Given the description of an element on the screen output the (x, y) to click on. 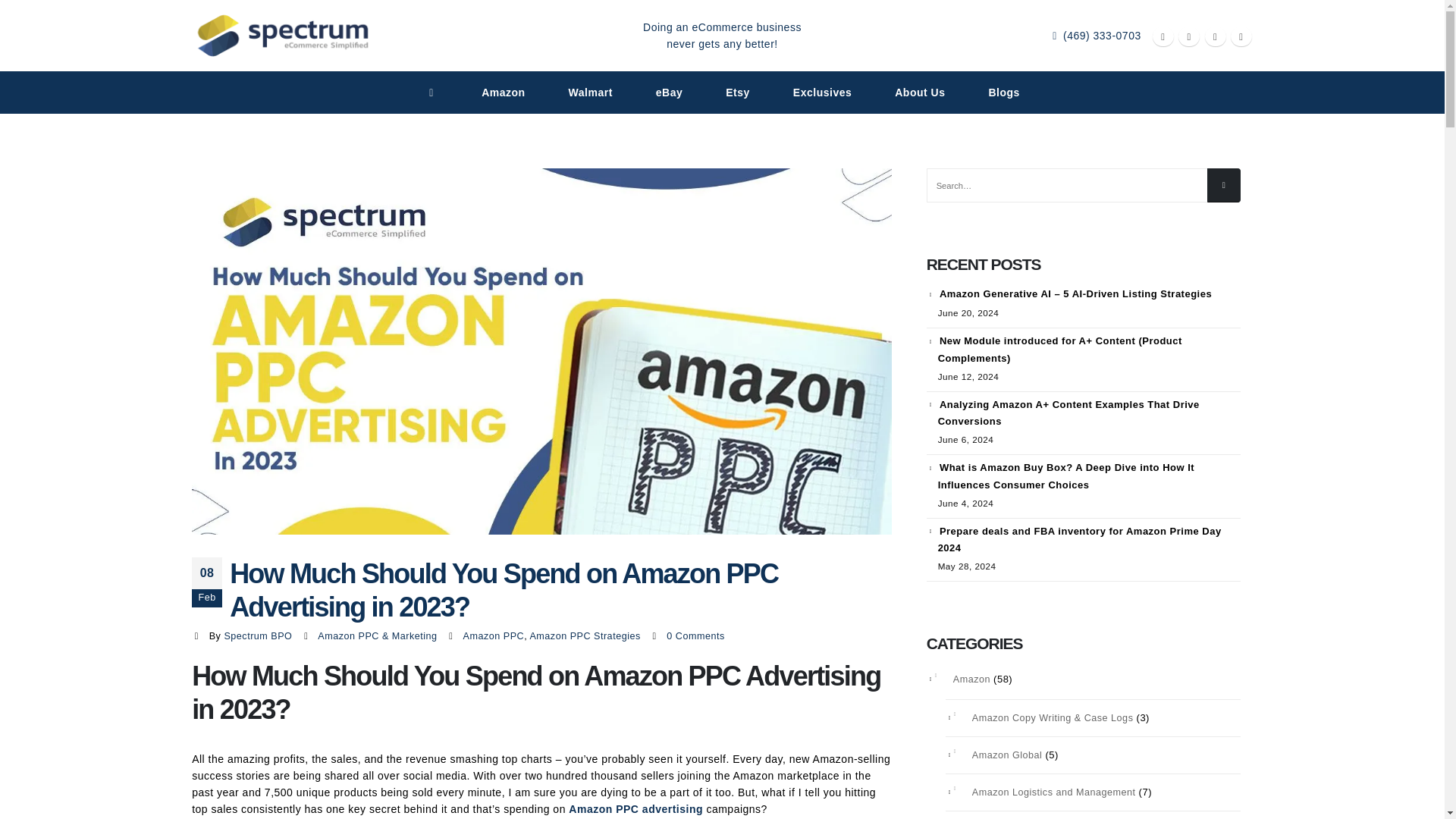
Posts by Spectrum BPO (258, 635)
Walmart (590, 92)
0 Comments (694, 635)
SpectrumBPO - eCommerce Simplified (283, 35)
Amazon (503, 92)
